Given the description of an element on the screen output the (x, y) to click on. 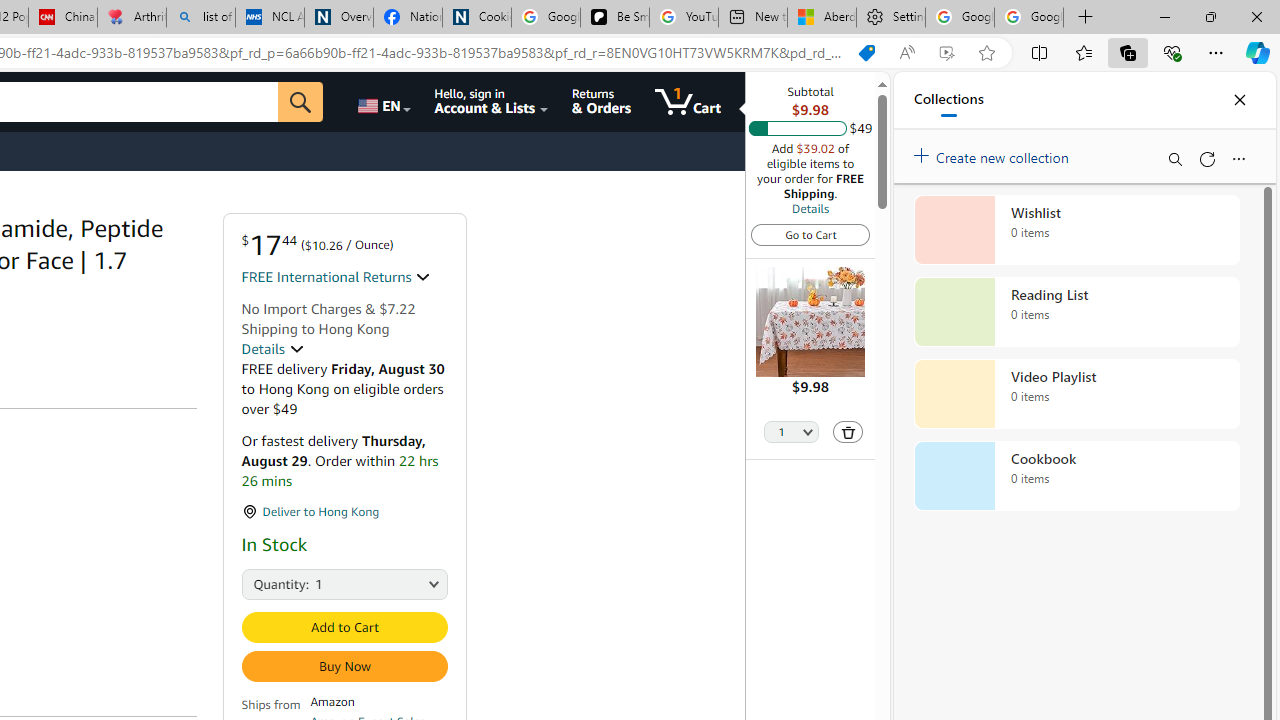
Hello, sign in Account & Lists (491, 101)
1 item in cart (687, 101)
Add to Cart (343, 627)
Wishlist collection, 0 items (1076, 229)
Shopping in Microsoft Edge (867, 53)
Details  (272, 349)
Delete (847, 431)
